Given the description of an element on the screen output the (x, y) to click on. 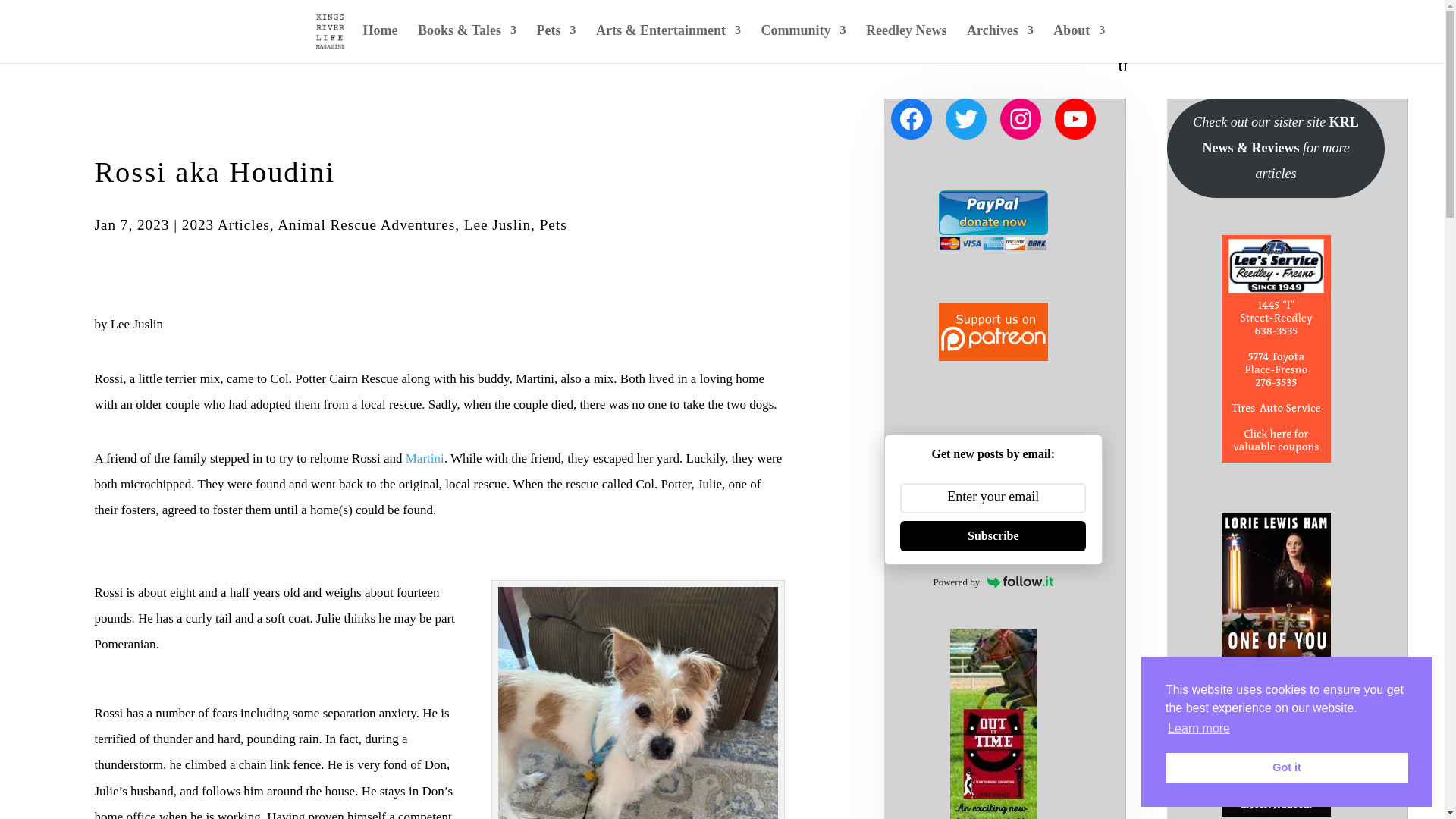
Home (379, 42)
Archives (999, 42)
Community (802, 42)
Pets (556, 42)
Reedley News (906, 42)
